Given the description of an element on the screen output the (x, y) to click on. 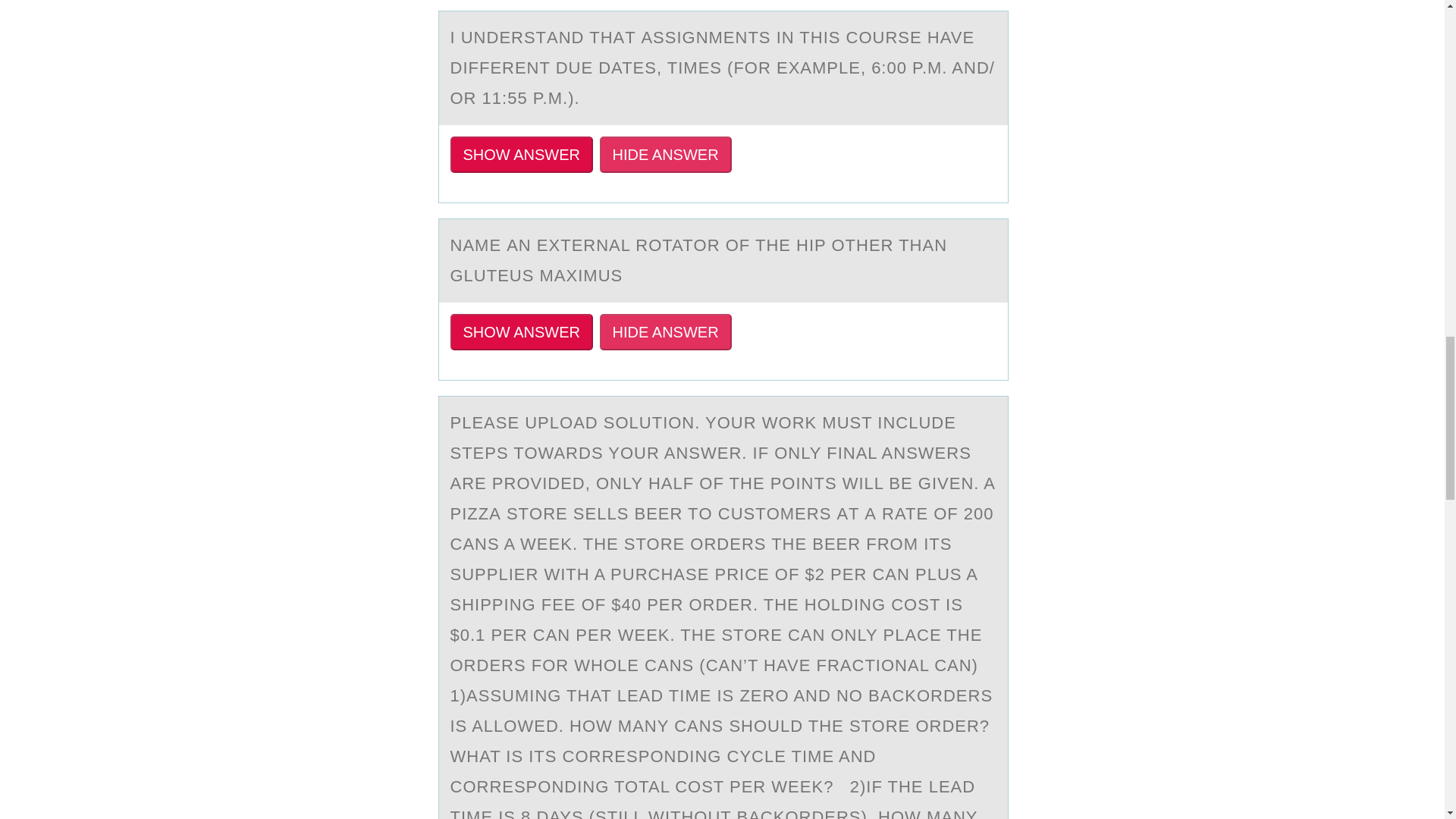
SHOW ANSWER (520, 331)
HIDE ANSWER (665, 331)
HIDE ANSWER (665, 154)
SHOW ANSWER (520, 154)
